Given the description of an element on the screen output the (x, y) to click on. 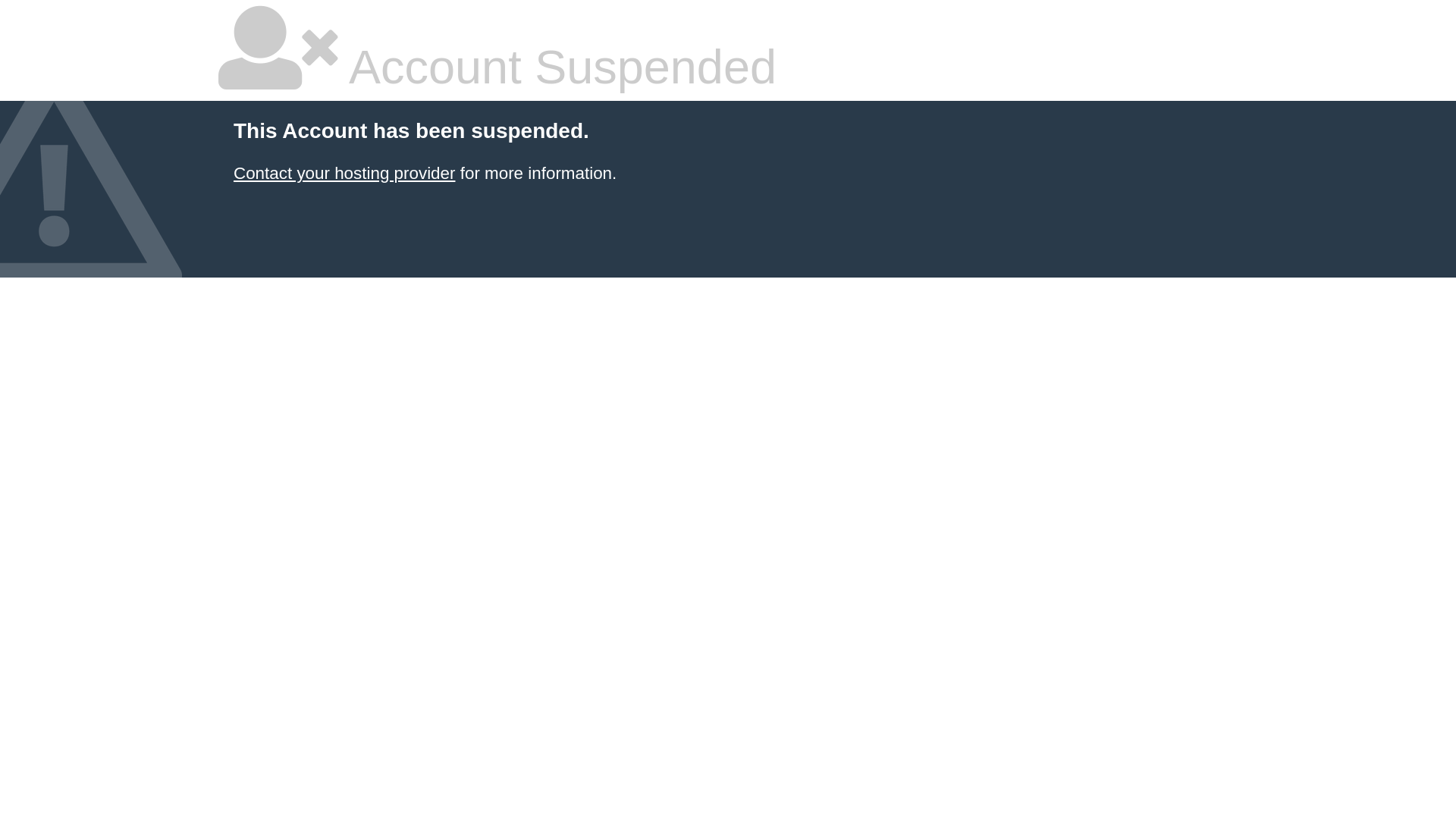
Contact your hosting provider Element type: text (344, 172)
